Given the description of an element on the screen output the (x, y) to click on. 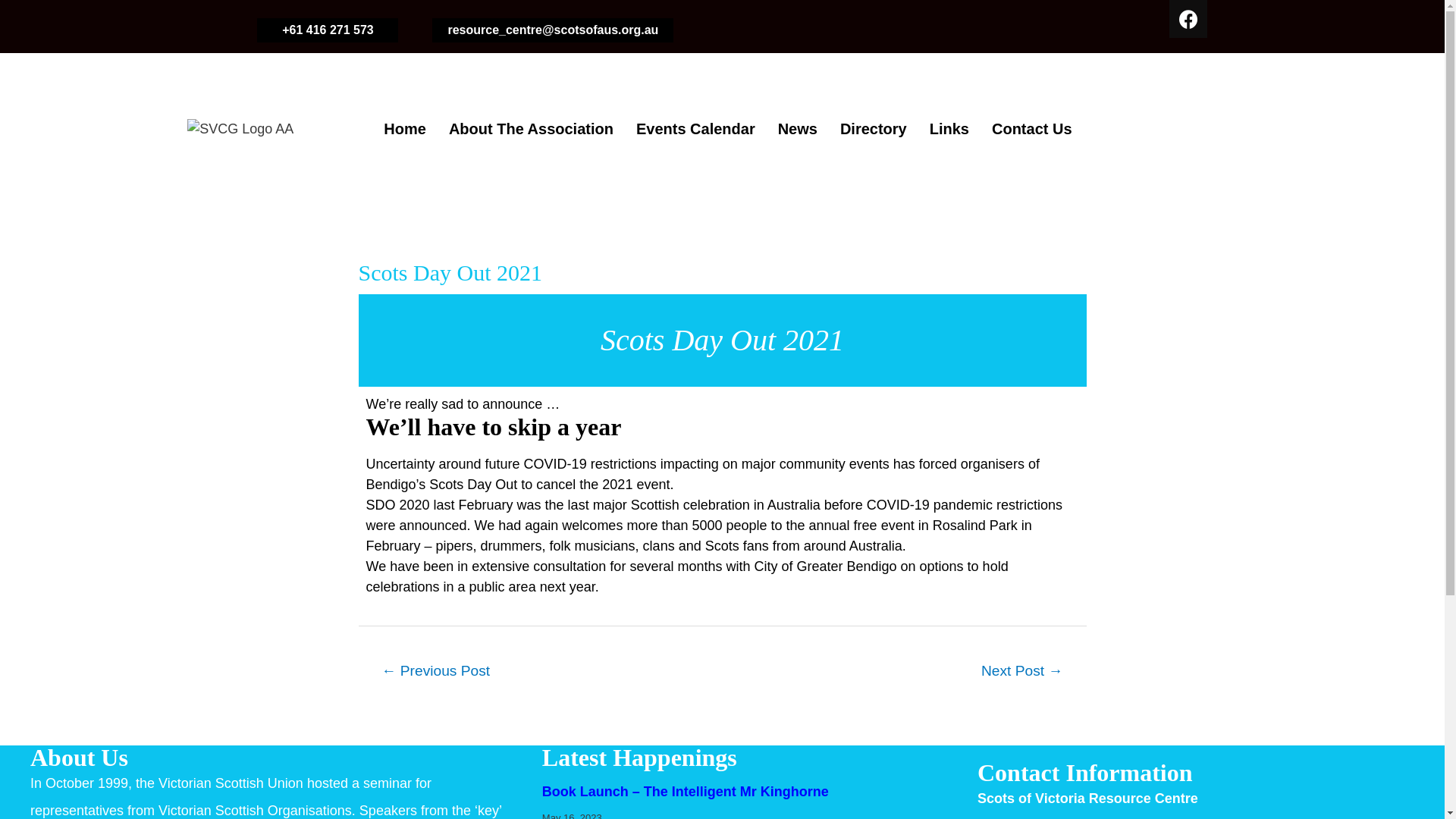
Directory Element type: text (873, 128)
Events Calendar Element type: text (695, 128)
About The Association Element type: text (530, 128)
Home Element type: text (404, 128)
Links Element type: text (949, 128)
resource_centre@scotsofaus.org.au Element type: text (552, 30)
+61 416 271 573 Element type: text (327, 30)
SVCG Logo AA Element type: hover (240, 129)
News Element type: text (797, 128)
Contact Us Element type: text (1031, 128)
